Given the description of an element on the screen output the (x, y) to click on. 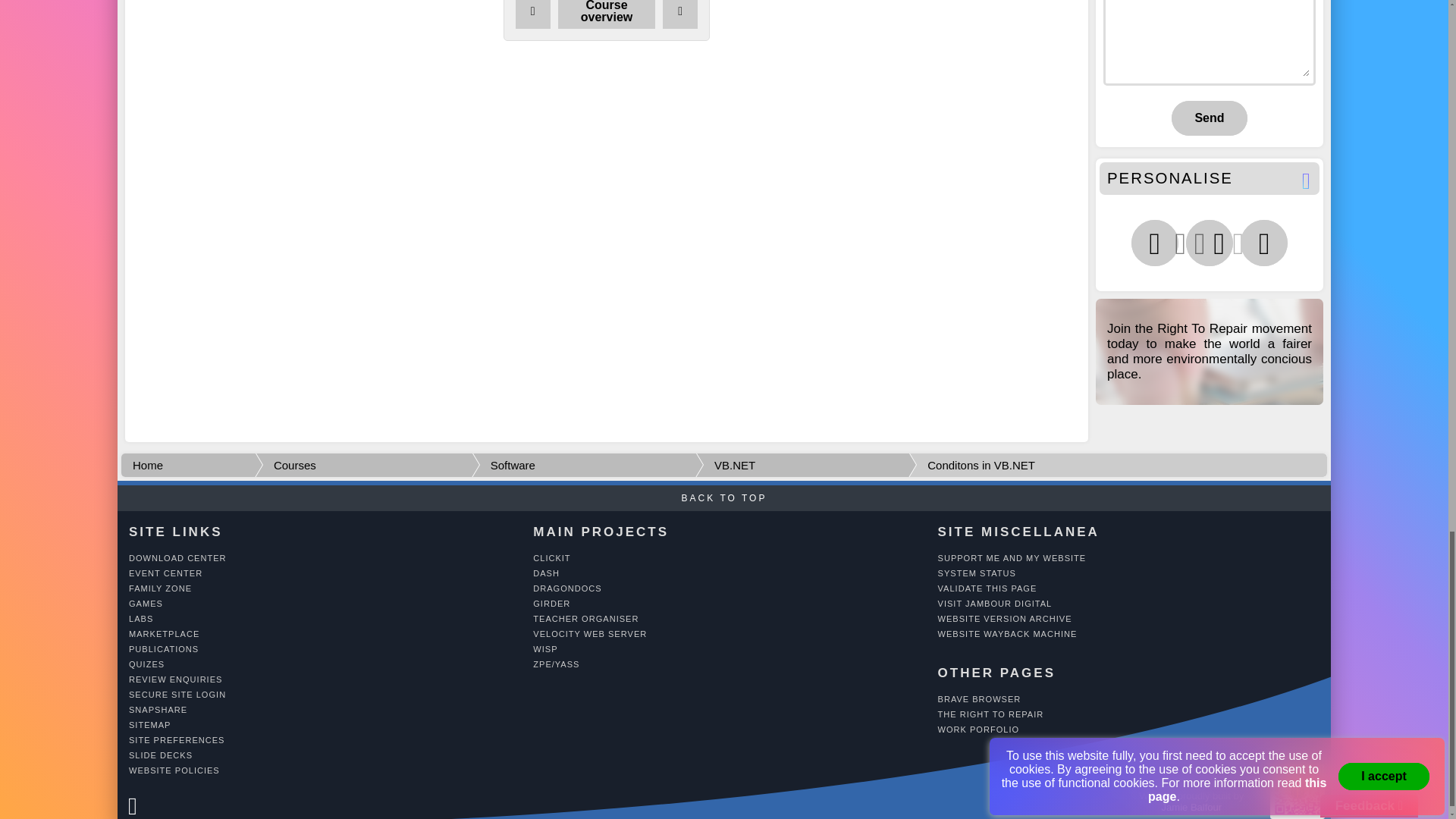
File handling (532, 14)
If statements (679, 14)
Course contents (606, 14)
